Given the description of an element on the screen output the (x, y) to click on. 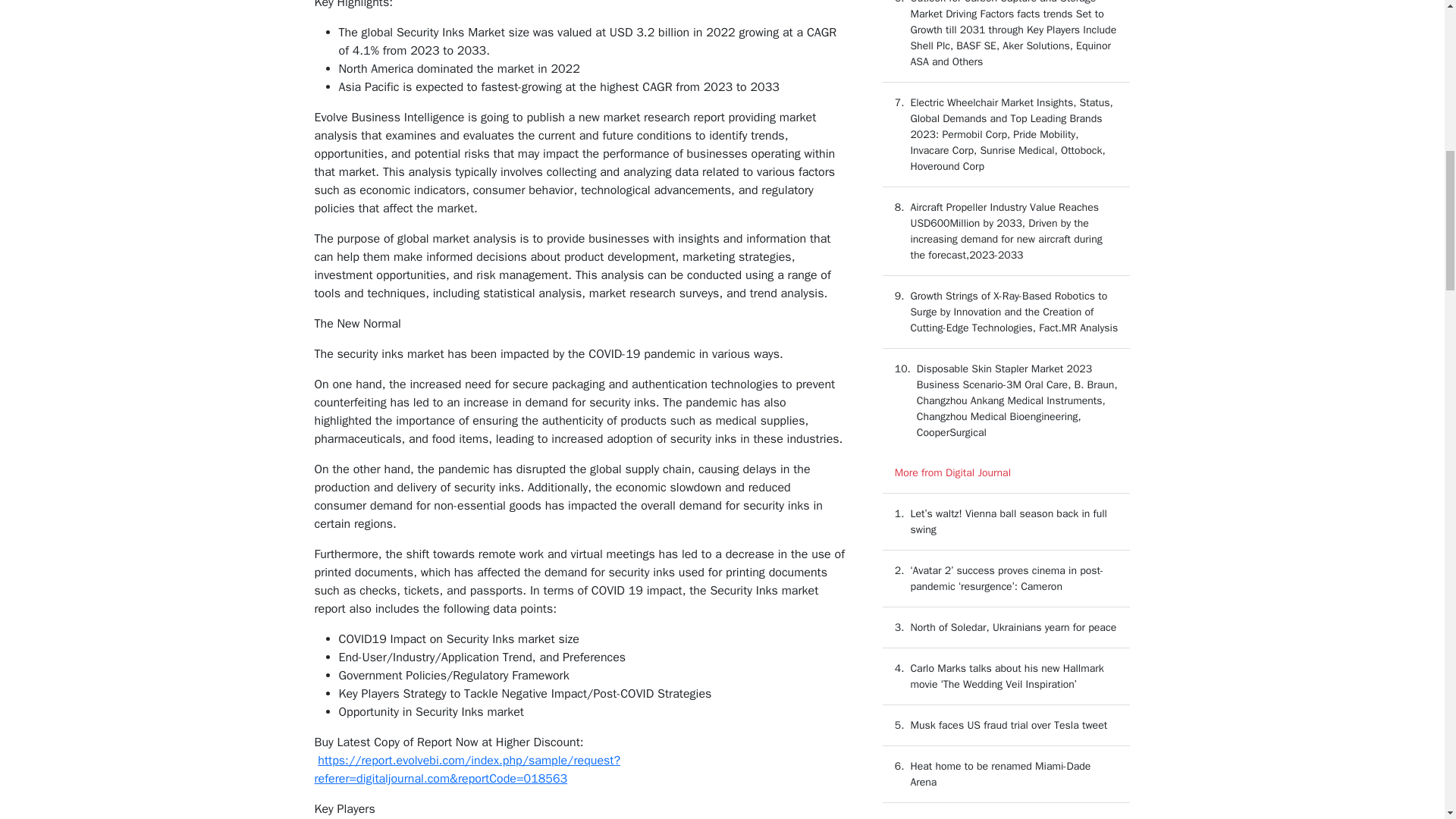
States with the biggest gun industries (998, 817)
Musk faces US fraud trial over Tesla tweet (1008, 725)
Heat home to be renamed Miami-Dade Arena (1000, 774)
North of Soledar, Ukrainians yearn for peace (1013, 626)
